Given the description of an element on the screen output the (x, y) to click on. 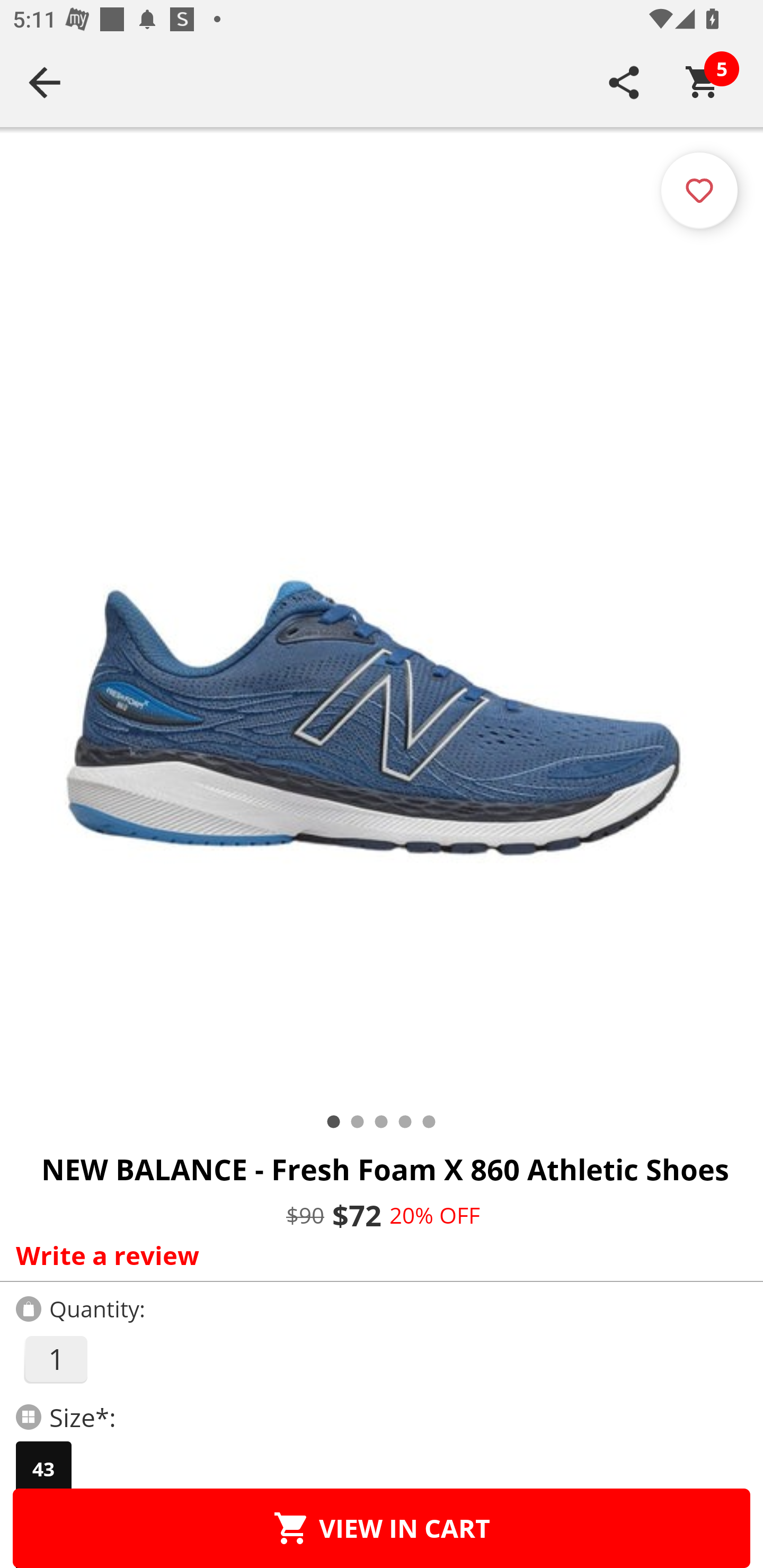
Navigate up (44, 82)
SHARE (623, 82)
Cart (703, 81)
Write a review (377, 1255)
1 (55, 1358)
43 (43, 1468)
VIEW IN CART (381, 1528)
